Given the description of an element on the screen output the (x, y) to click on. 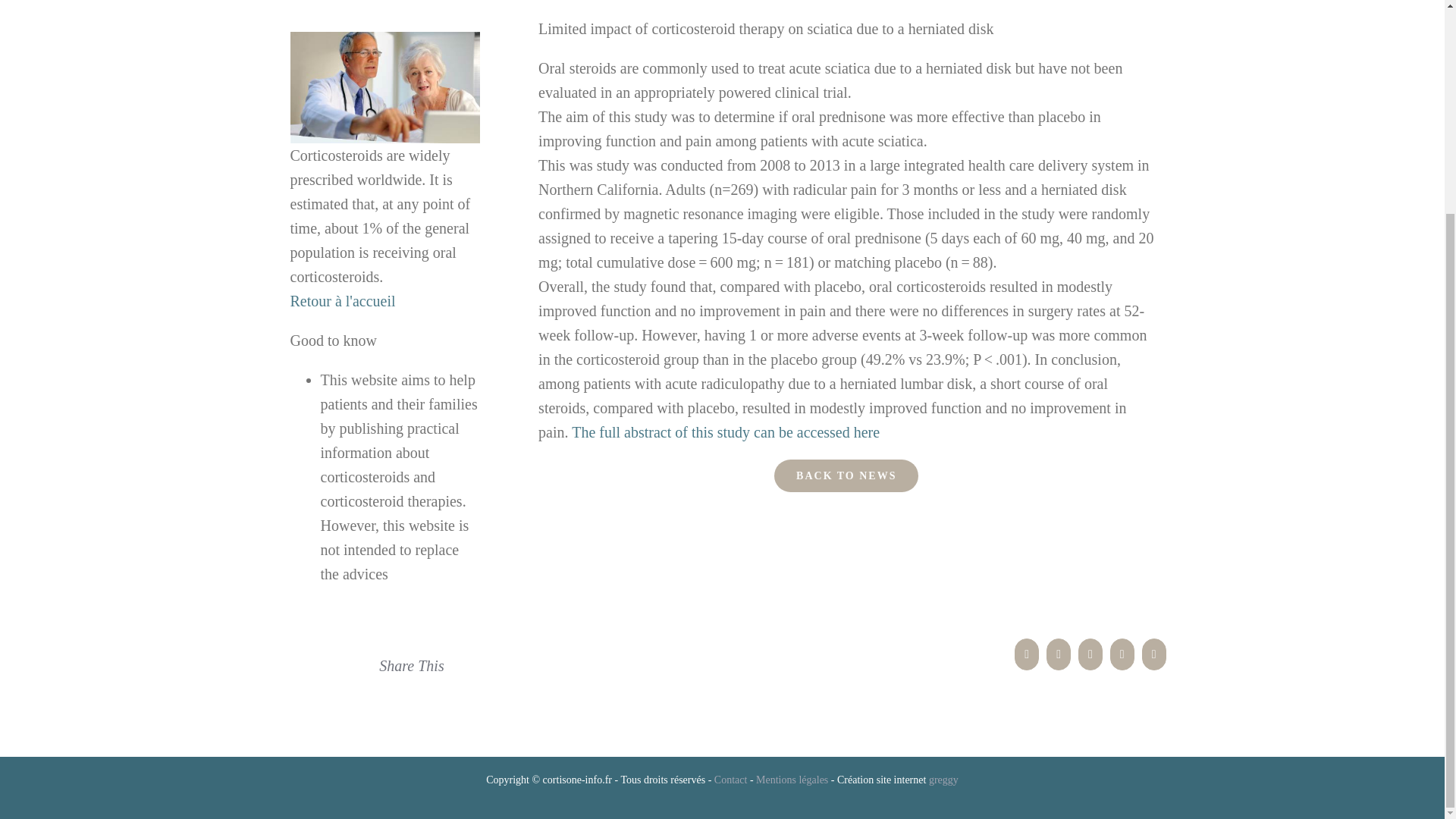
greggy (943, 779)
BACK TO NEWS (846, 475)
Contact (731, 779)
The full abstract of this study can be accessed here (725, 432)
